Given the description of an element on the screen output the (x, y) to click on. 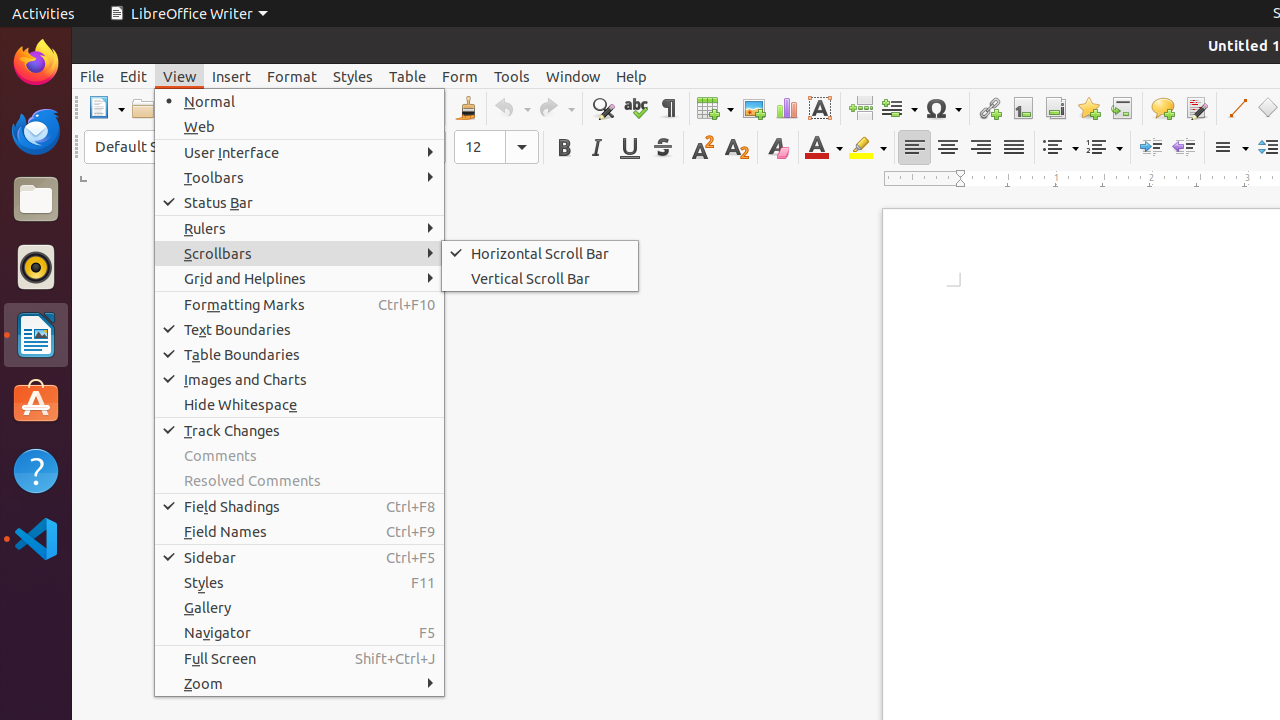
Scrollbars Element type: menu (299, 253)
Italic Element type: toggle-button (596, 147)
Grid and Helplines Element type: menu (299, 278)
Window Element type: menu (573, 76)
Bold Element type: toggle-button (563, 147)
